Given the description of an element on the screen output the (x, y) to click on. 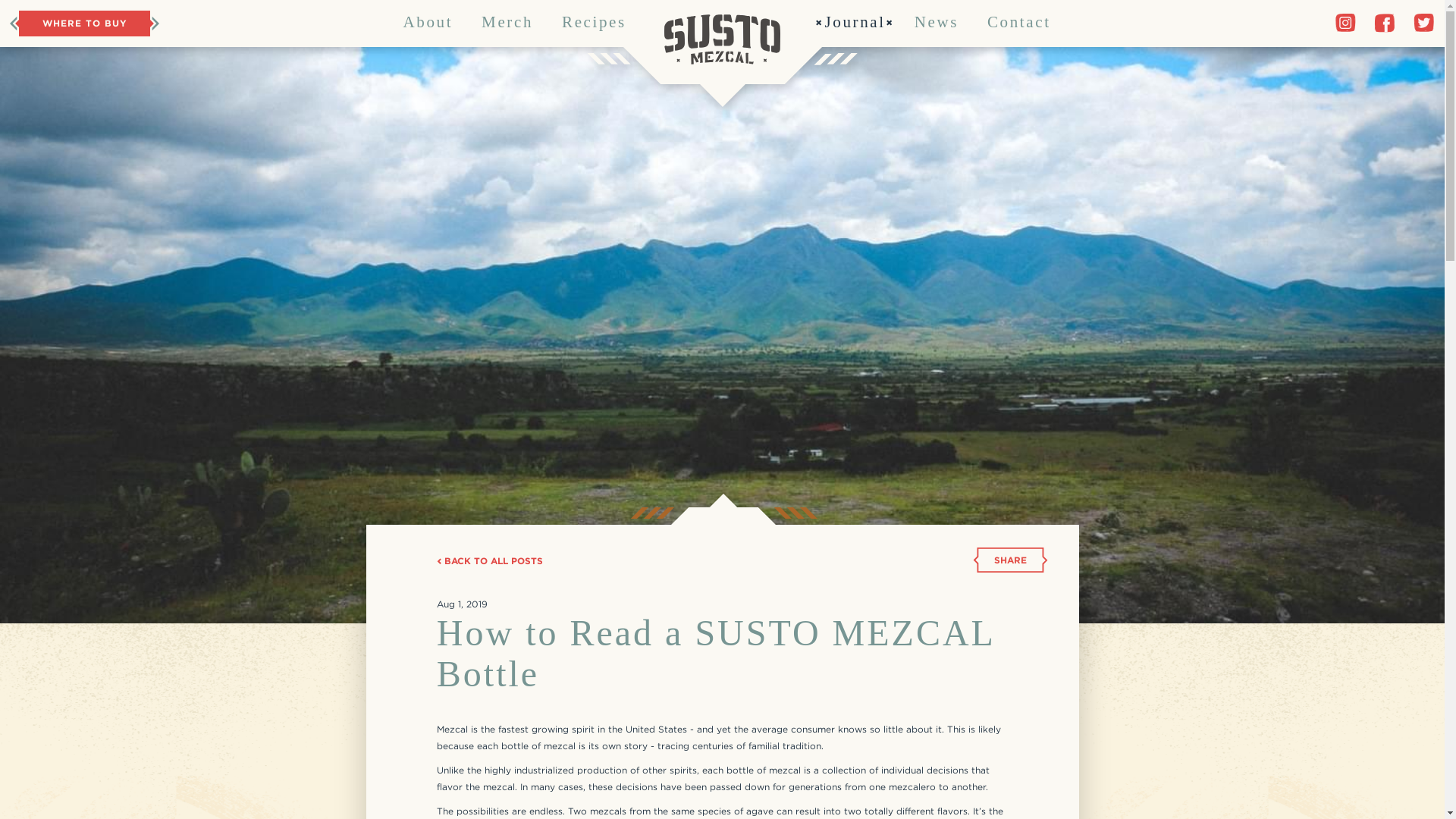
Recipes (593, 21)
Contact (1019, 21)
BACK TO ALL POSTS (489, 560)
News (936, 21)
WHERE TO BUY (83, 23)
About (427, 21)
Journal (854, 21)
SHARE (1010, 560)
Merch (507, 21)
